Given the description of an element on the screen output the (x, y) to click on. 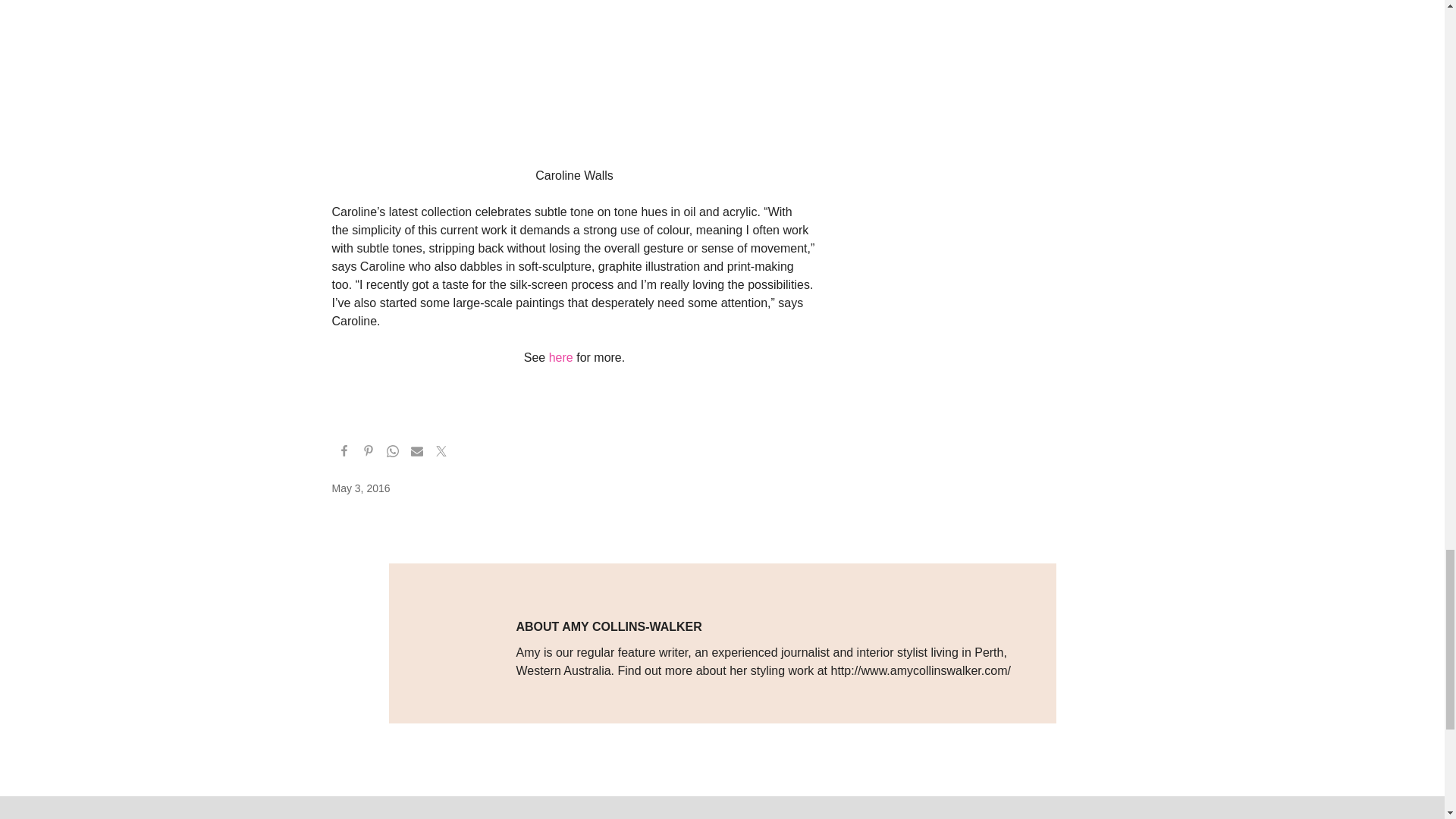
Share on Twitter (440, 453)
Share on Facebook (343, 453)
Share on Pinterest (368, 453)
Share via Email (416, 453)
